Given the description of an element on the screen output the (x, y) to click on. 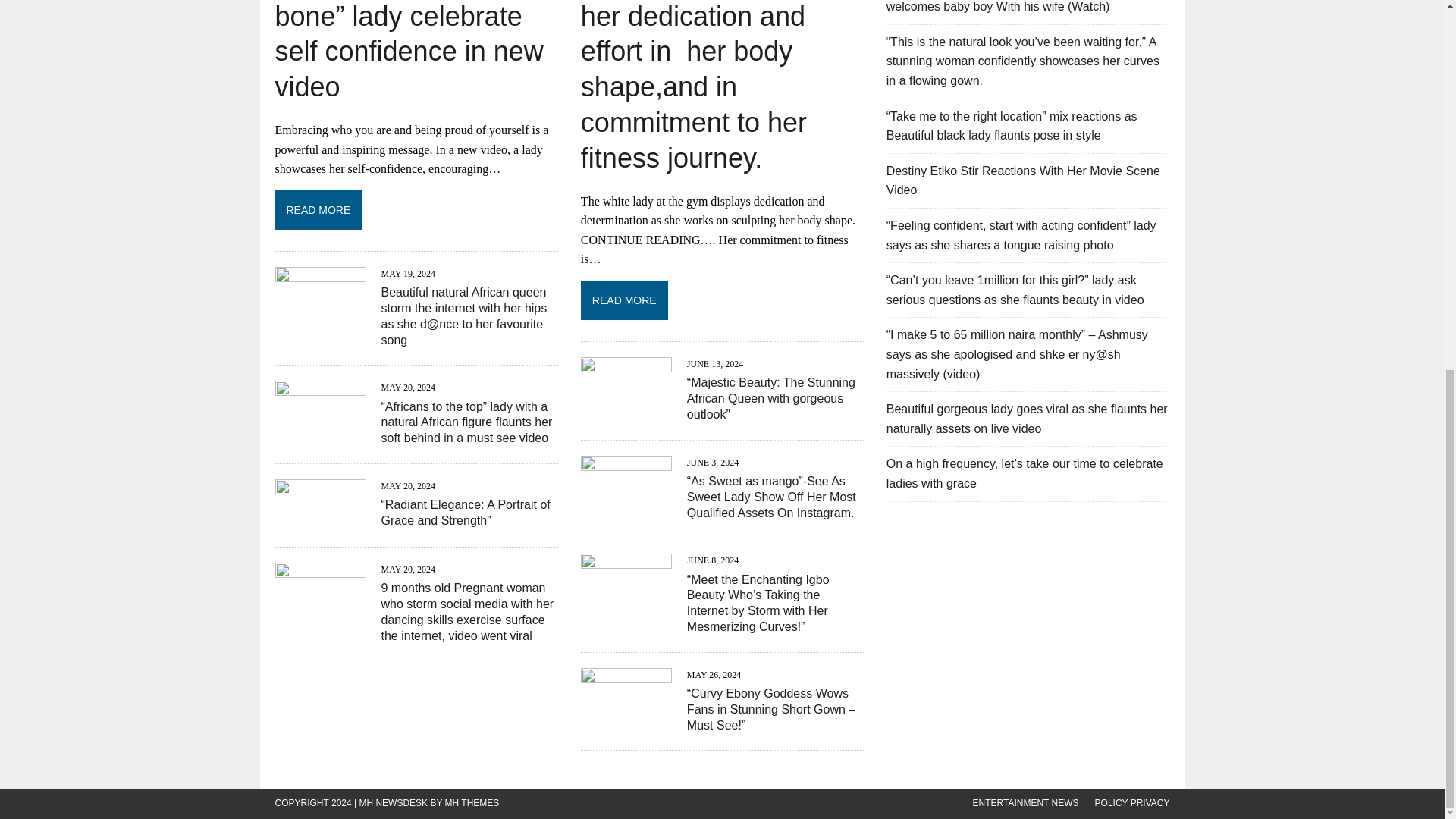
READ MORE (721, 298)
READ MORE (416, 208)
